Given the description of an element on the screen output the (x, y) to click on. 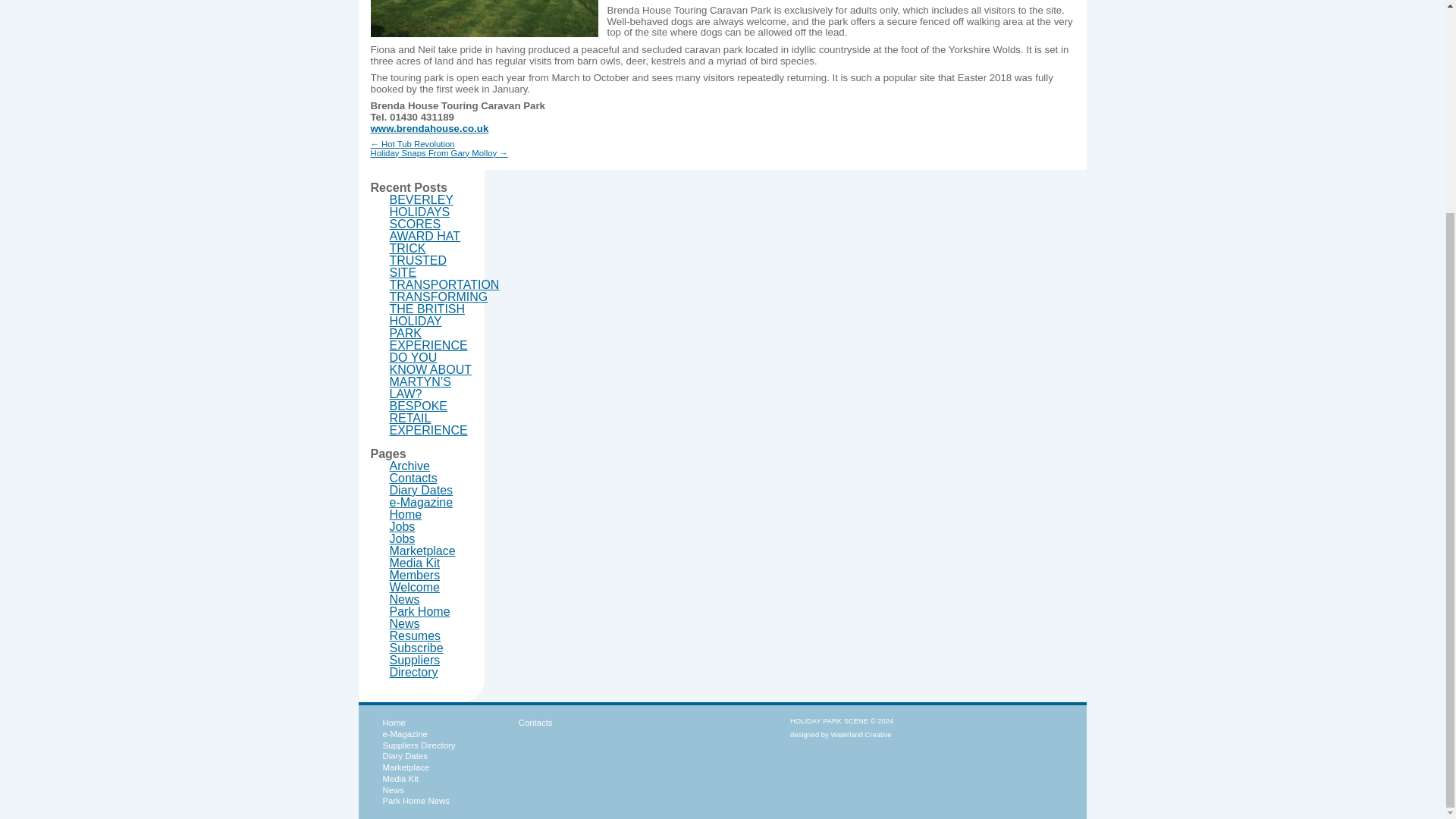
TRANSFORMING THE BRITISH HOLIDAY PARK EXPERIENCE (438, 321)
Diary Dates (403, 755)
Marketplace (422, 550)
BESPOKE RETAIL EXPERIENCE (428, 417)
Home (392, 722)
Contacts (414, 477)
Park Home News (419, 617)
Subscribe (417, 647)
Home (406, 513)
e-Magazine (421, 502)
